Given the description of an element on the screen output the (x, y) to click on. 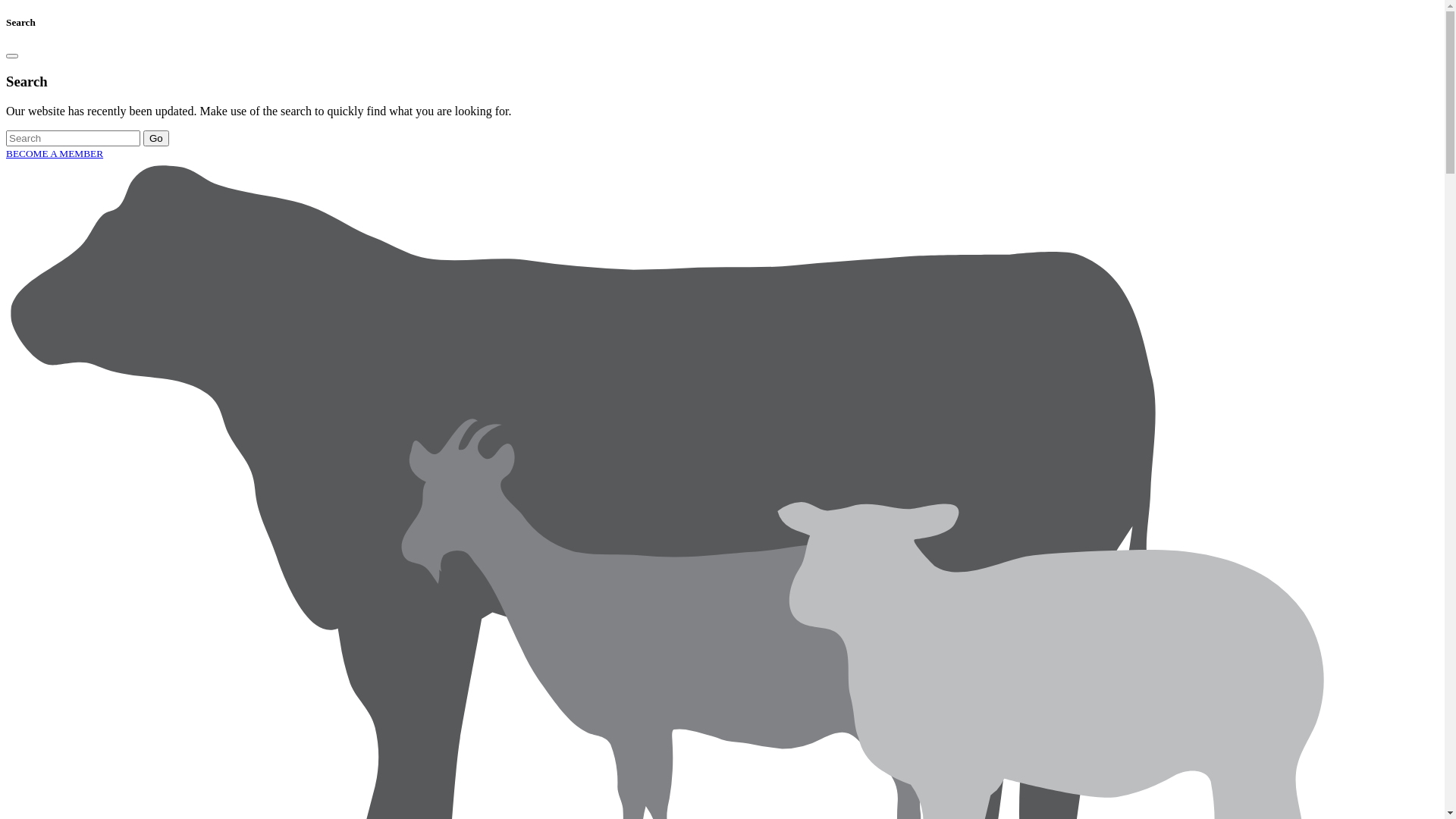
Go Element type: text (156, 138)
BECOME A MEMBER Element type: text (54, 152)
